Given the description of an element on the screen output the (x, y) to click on. 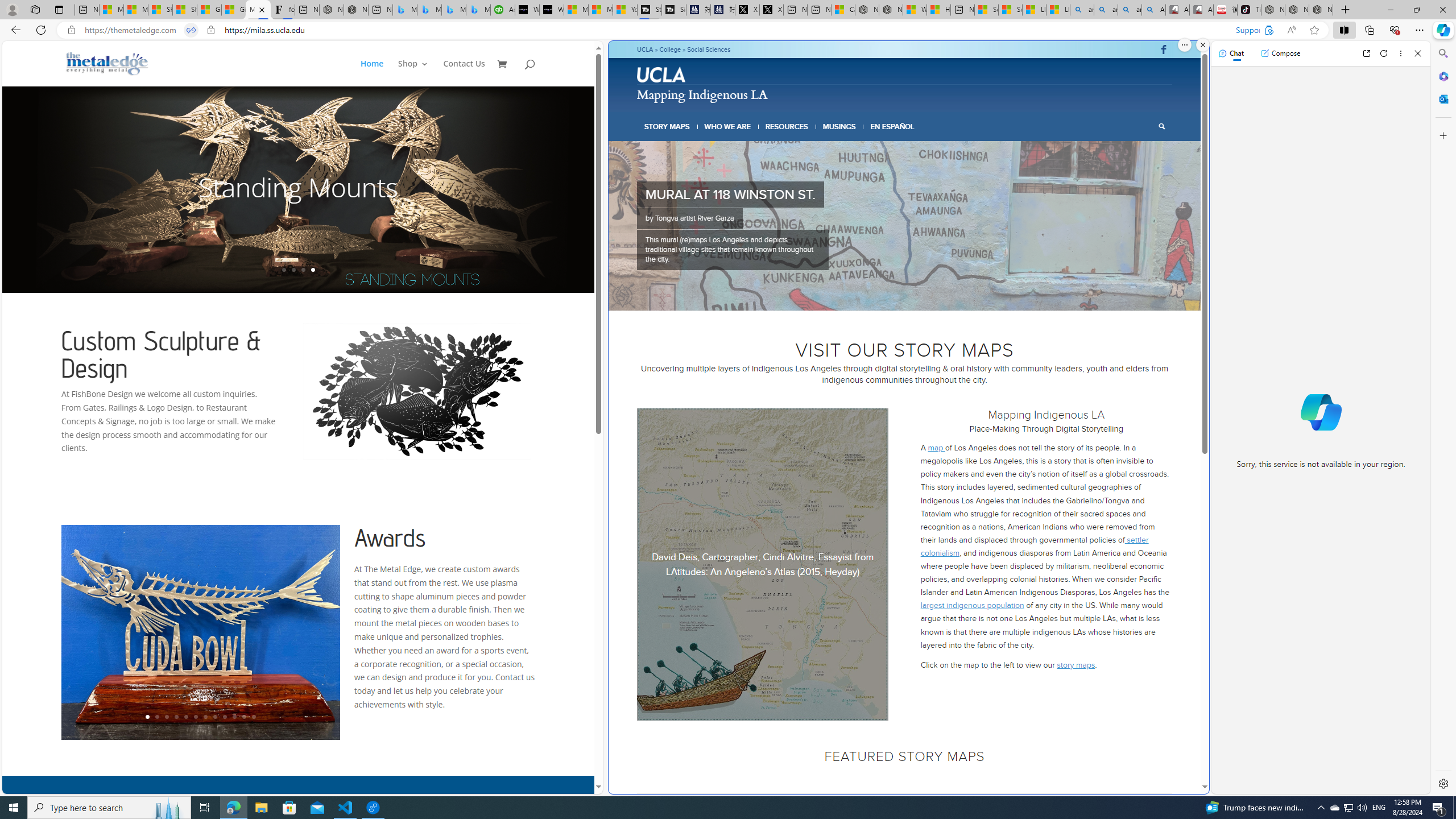
STORY MAPS (667, 126)
Address and search bar (669, 29)
Mapping Indigenous LA (702, 93)
TikTok (1248, 9)
UCLA logo (662, 76)
Close split screen. (1202, 45)
Open link in new tab (1366, 53)
9 (224, 716)
Microsoft Start Sports (575, 9)
